Given the description of an element on the screen output the (x, y) to click on. 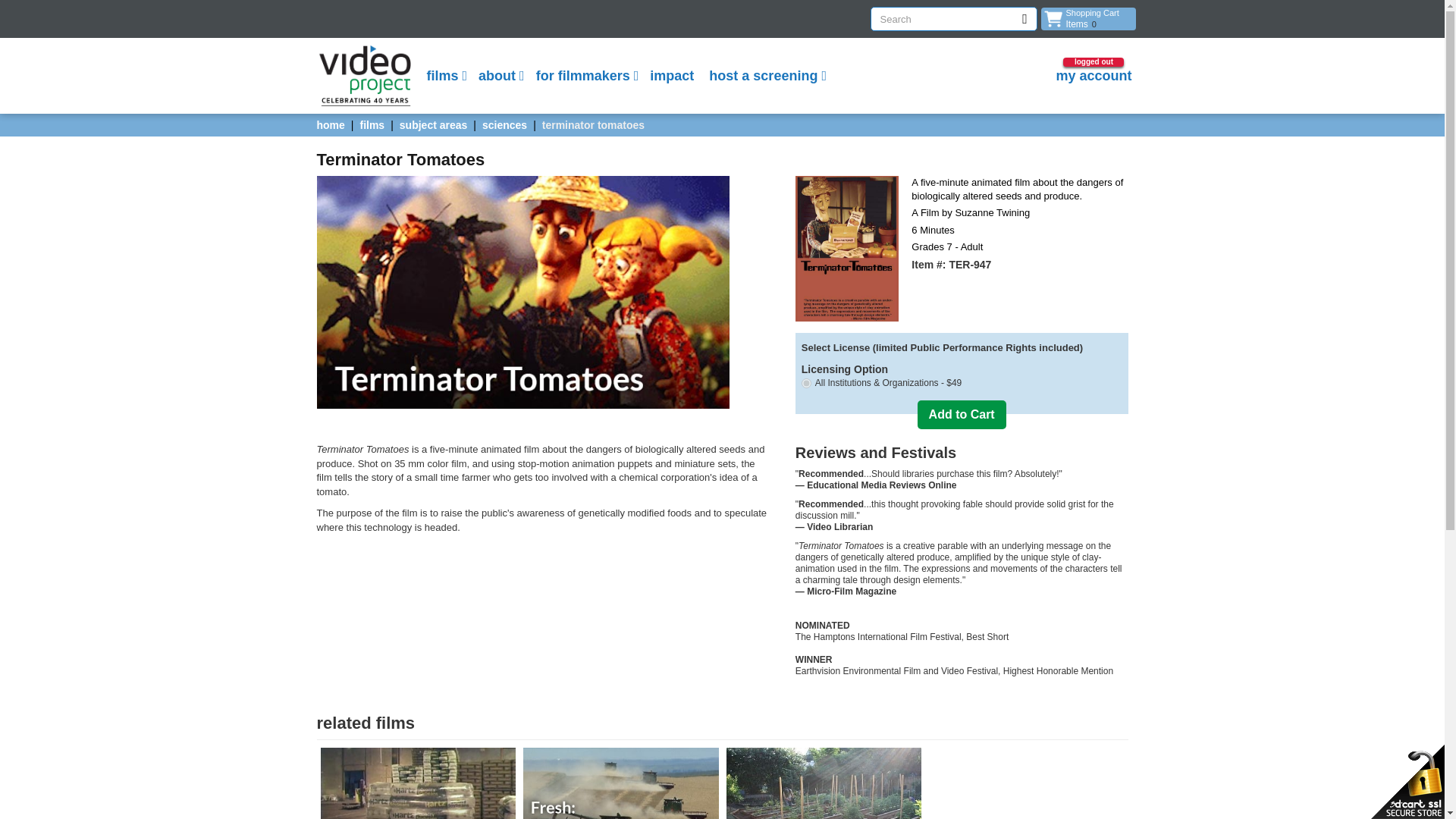
films (371, 124)
481 (806, 383)
for filmmakers (585, 75)
home (331, 124)
terminator tomatoes (593, 124)
about (499, 75)
sciences (504, 124)
subject areas (432, 124)
Search Button (1024, 18)
films (444, 75)
host a screening (1088, 18)
impact (765, 75)
